Given the description of an element on the screen output the (x, y) to click on. 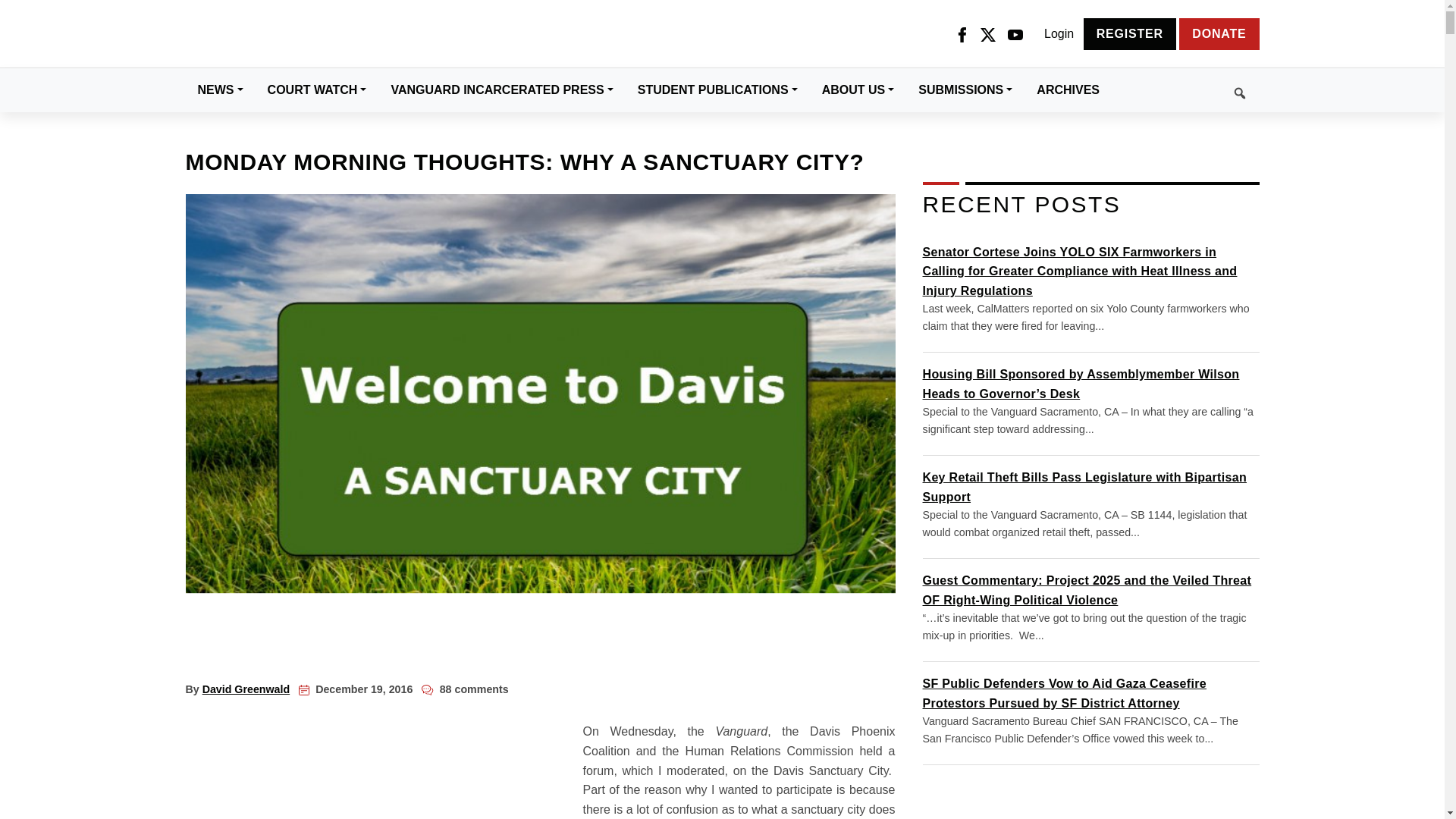
Twitter (987, 34)
YouTube (1015, 34)
REGISTER (1129, 33)
Facebook (962, 34)
Search (1185, 90)
NEWS (219, 89)
DONATE (1219, 33)
Login (1058, 34)
